Given the description of an element on the screen output the (x, y) to click on. 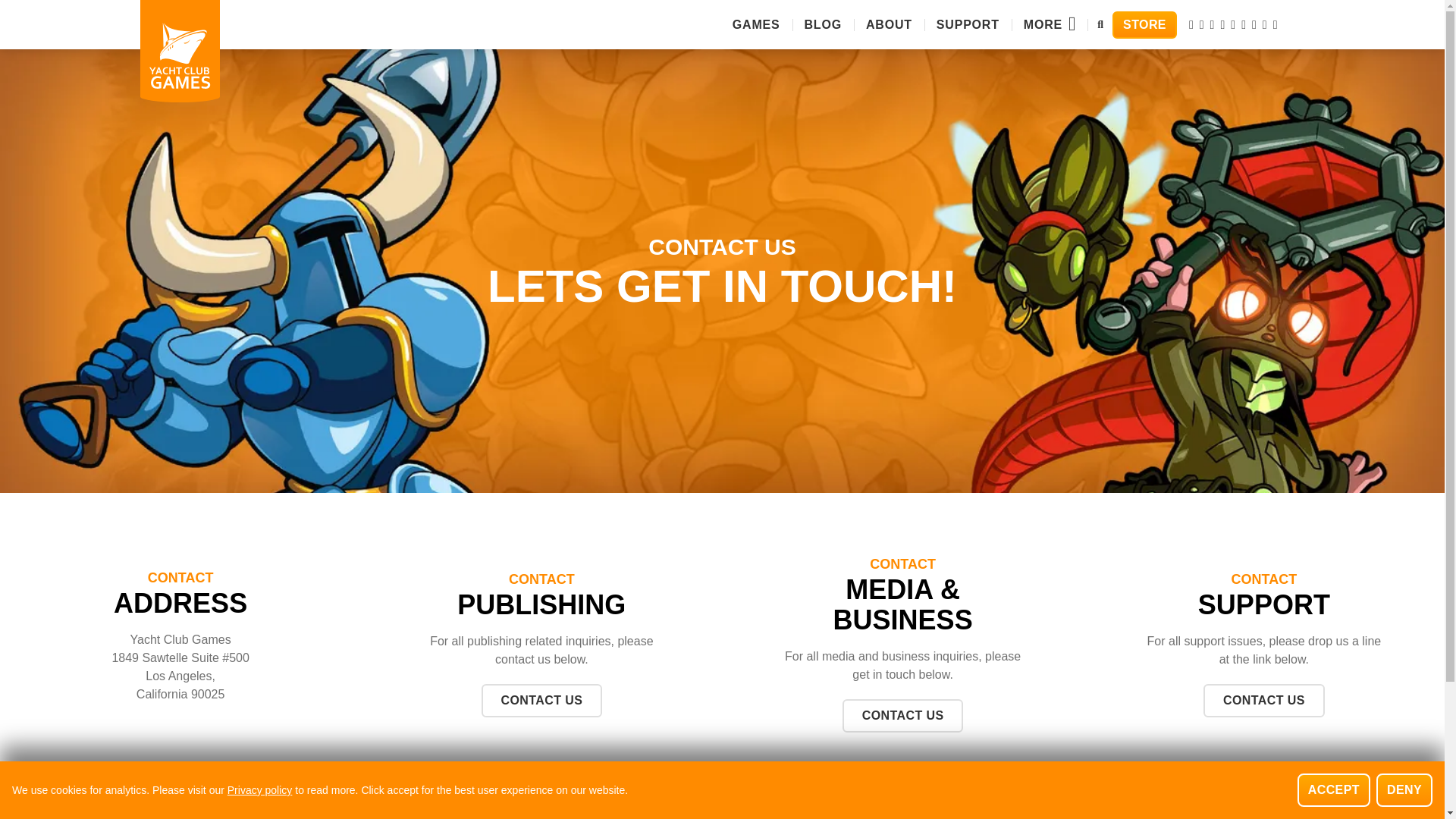
CONTACT US (903, 715)
GAMES (756, 24)
ABOUT (889, 24)
Privacy policy (259, 790)
CONTACT US (541, 700)
CONTACT US (1264, 700)
SUPPORT (967, 24)
BLOG (823, 24)
MORE (1050, 24)
STORE (1144, 23)
